Given the description of an element on the screen output the (x, y) to click on. 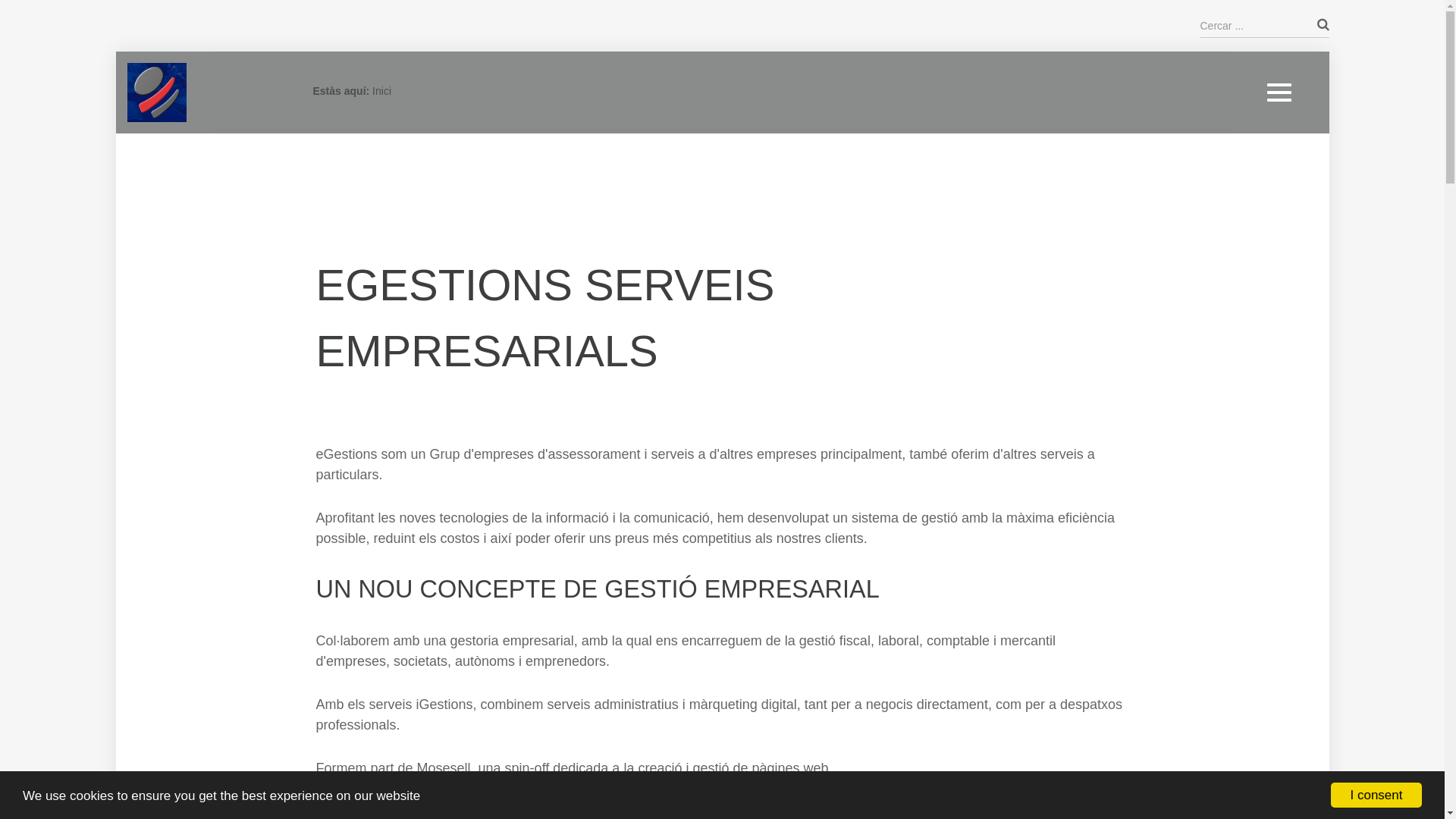
Emprenedors Element type: text (1288, 66)
INICI Element type: text (1268, 25)
Mosesell Serveis web Element type: text (1307, 458)
Per a Particualrs Element type: text (1295, 533)
Honoraris Element type: text (1279, 389)
GESTORIA EMPRESARIAL Element type: text (1322, 47)
ASSEGURANCES MAPFRE Element type: text (1324, 514)
CONTACTEU Element type: text (1288, 589)
Per a Empreses Element type: text (1294, 555)
I consent Element type: text (1375, 794)
CONSULTORI ECONOMISTA Element type: text (1327, 251)
Pla d'Empresa Element type: text (1290, 270)
COMUNITATS DE PROPIETARIS Element type: text (1336, 326)
iGestions per a Despatxos Professionals Element type: text (1318, 209)
Assessorament financer Element type: text (1313, 292)
iGestions per a Negocis Element type: text (1312, 179)
Projectes Destacats Element type: text (1303, 480)
